Given the description of an element on the screen output the (x, y) to click on. 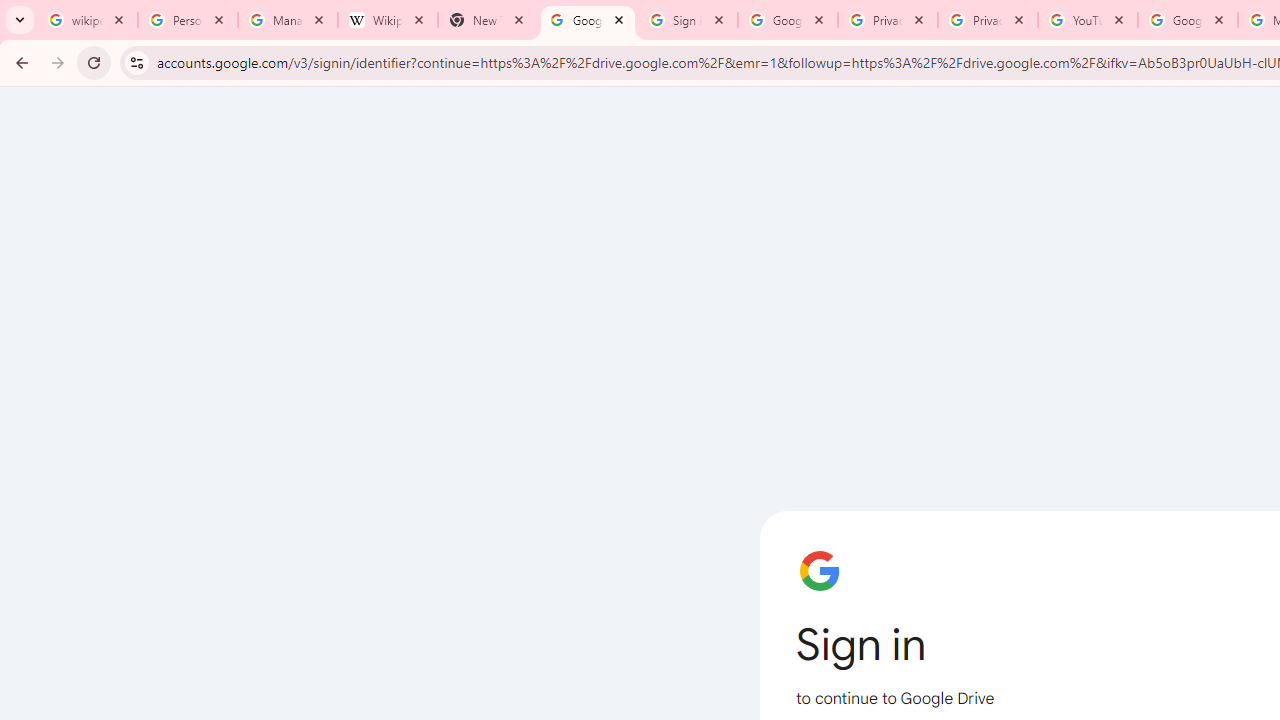
Google Account Help (1187, 20)
Wikipedia:Edit requests - Wikipedia (387, 20)
Google Drive: Sign-in (788, 20)
Google Drive: Sign-in (587, 20)
